Given the description of an element on the screen output the (x, y) to click on. 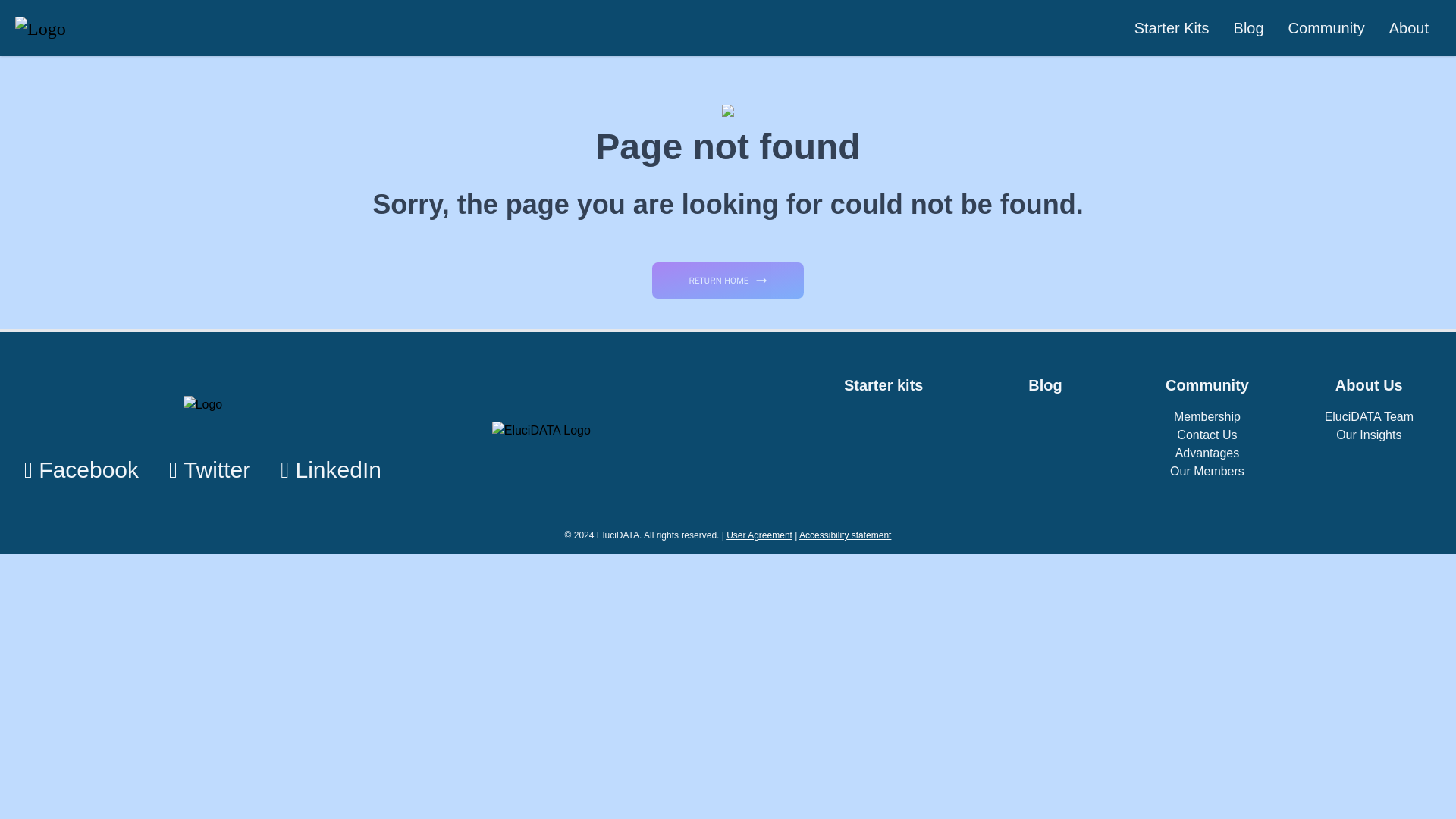
Starter Kits (1171, 27)
EluciDATA Team (1368, 416)
Twitter (209, 470)
User Agreement (759, 534)
Membership (1207, 416)
Our Members (1207, 471)
Our Insights (1368, 434)
Facebook (81, 470)
Accessibility statement (845, 534)
Community (1207, 388)
